Given the description of an element on the screen output the (x, y) to click on. 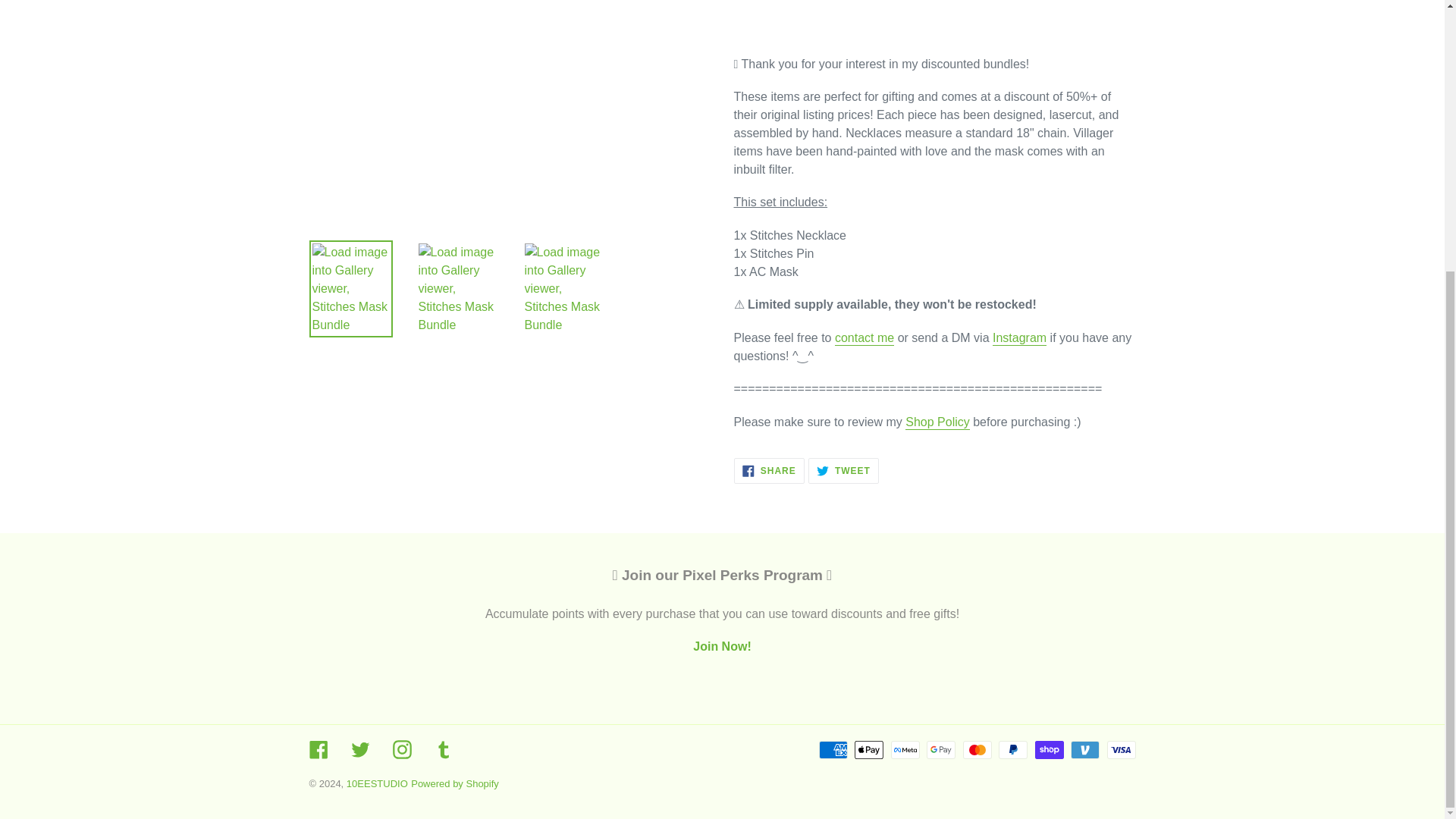
contact me (863, 338)
Instagram (843, 470)
Join Now! (1019, 338)
Twitter (722, 645)
Instagram (359, 749)
Shop Policy (769, 470)
Facebook (402, 749)
